Given the description of an element on the screen output the (x, y) to click on. 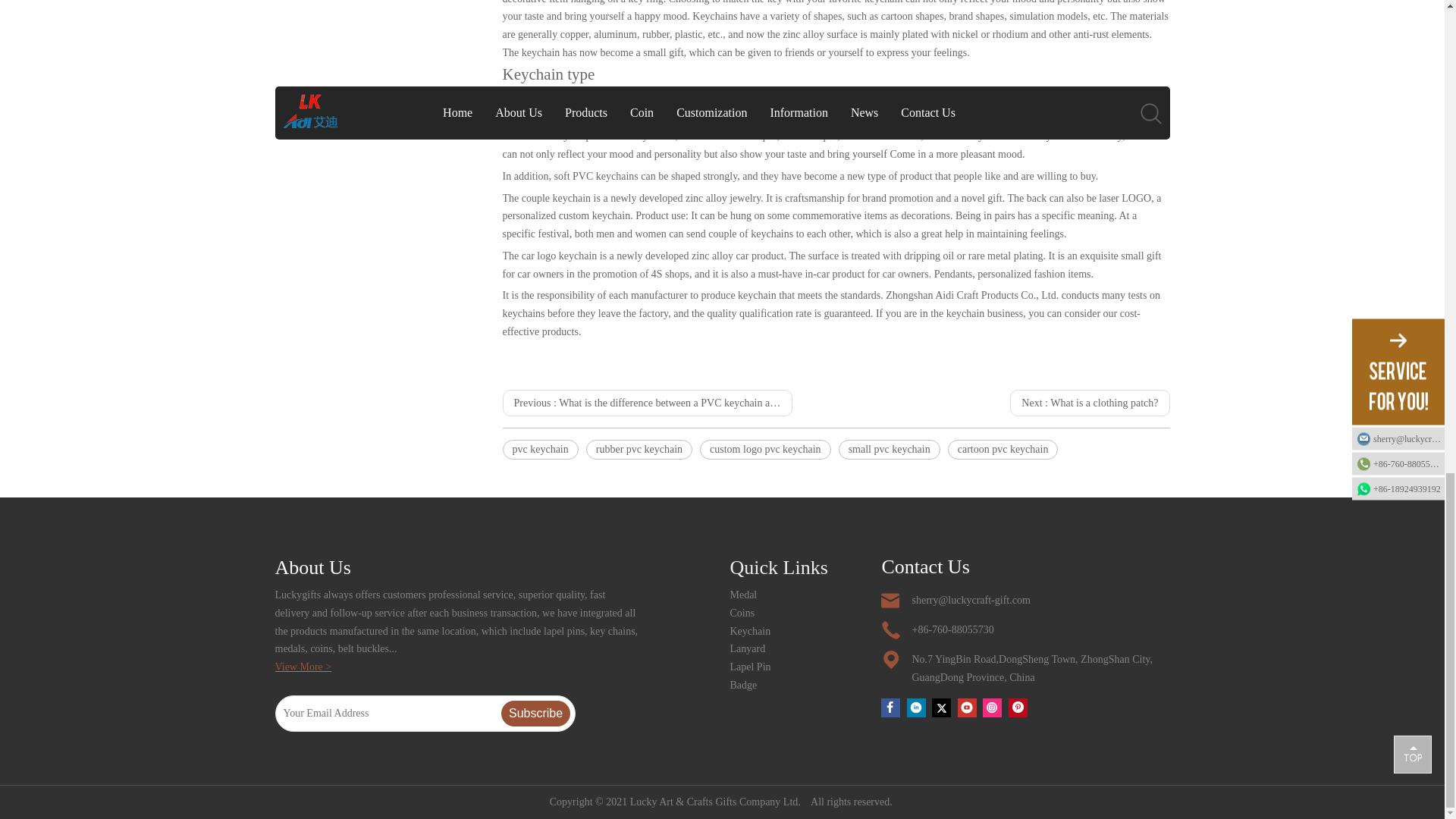
small pvc keychain (889, 449)
custom logo pvc keychain (765, 449)
pvc keychain (540, 449)
cartoon pvc keychain (1002, 449)
rubber pvc keychain (639, 449)
